Given the description of an element on the screen output the (x, y) to click on. 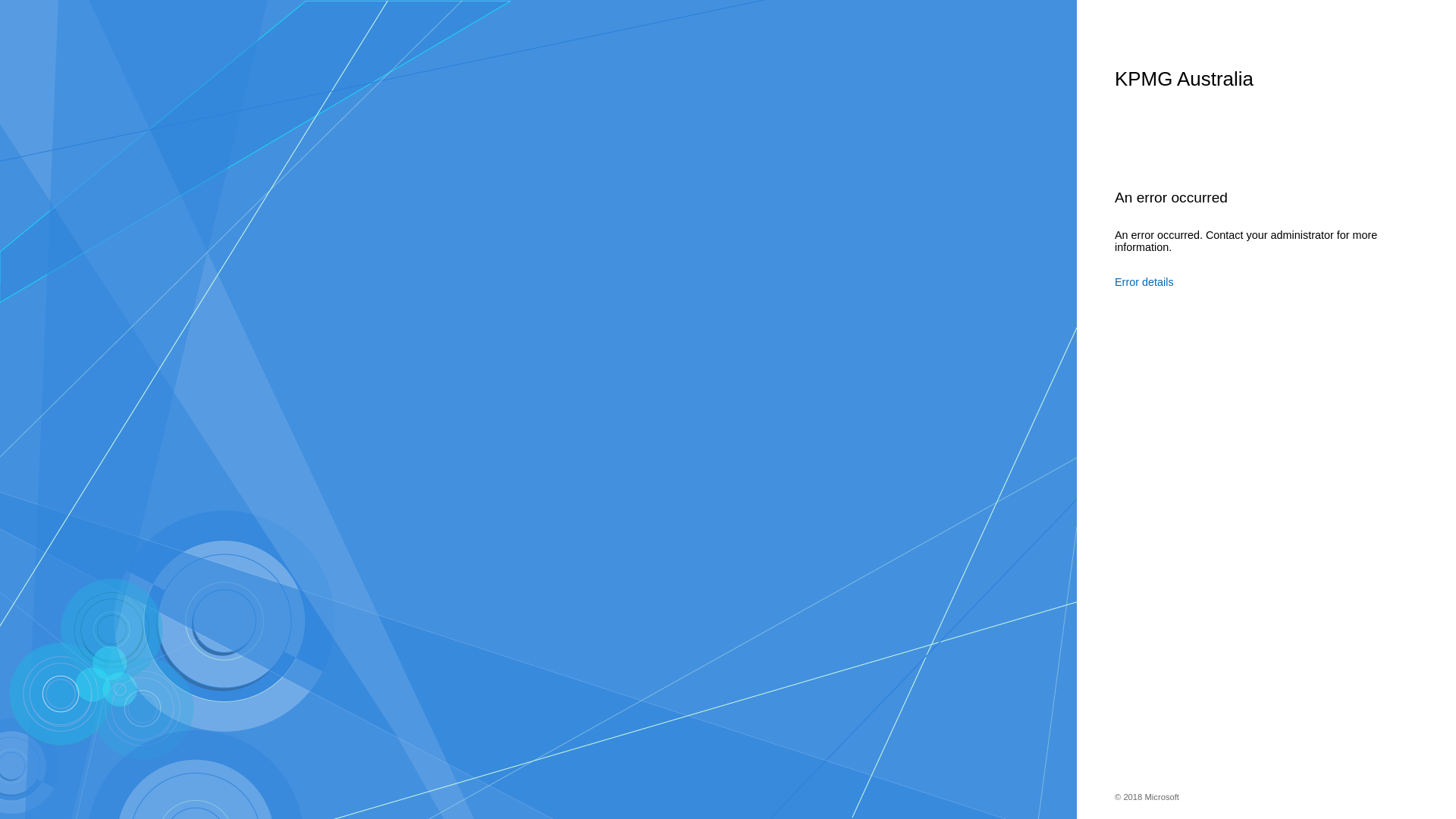
Error details Element type: text (1247, 282)
